Given the description of an element on the screen output the (x, y) to click on. 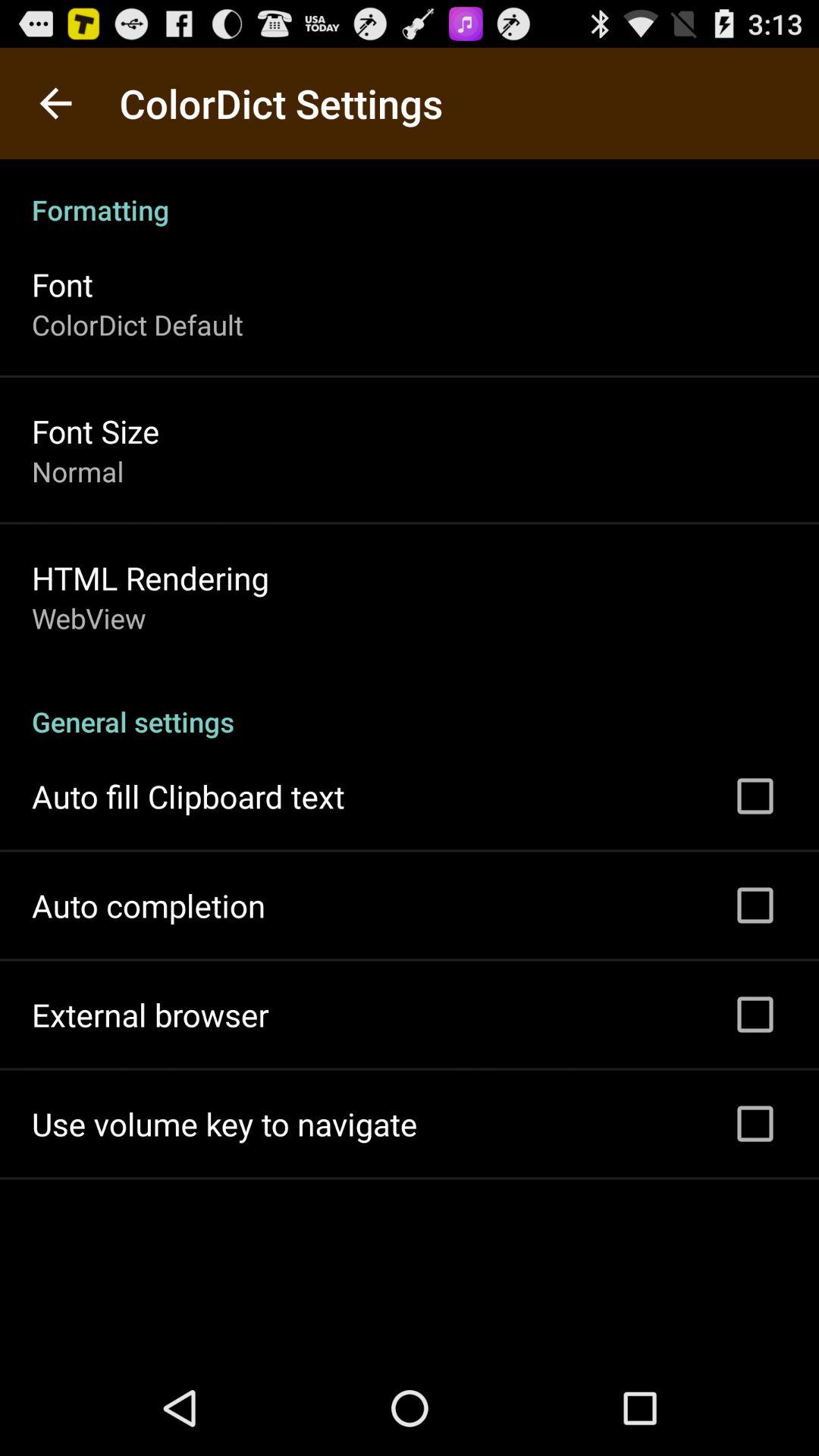
tap the item above the font size (137, 324)
